Given the description of an element on the screen output the (x, y) to click on. 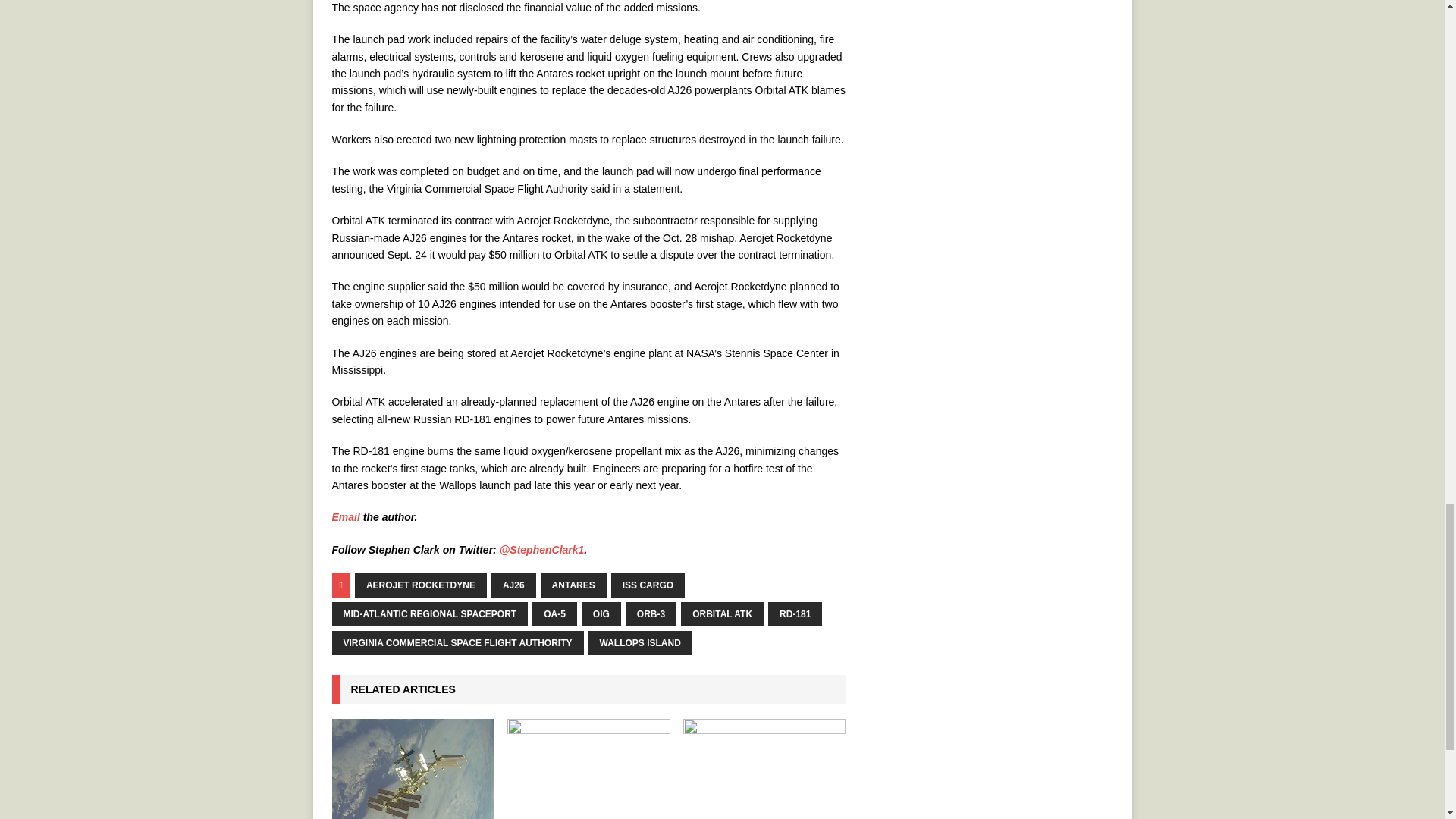
SpaceX failure adds another kink in station supply chain (413, 769)
